Given the description of an element on the screen output the (x, y) to click on. 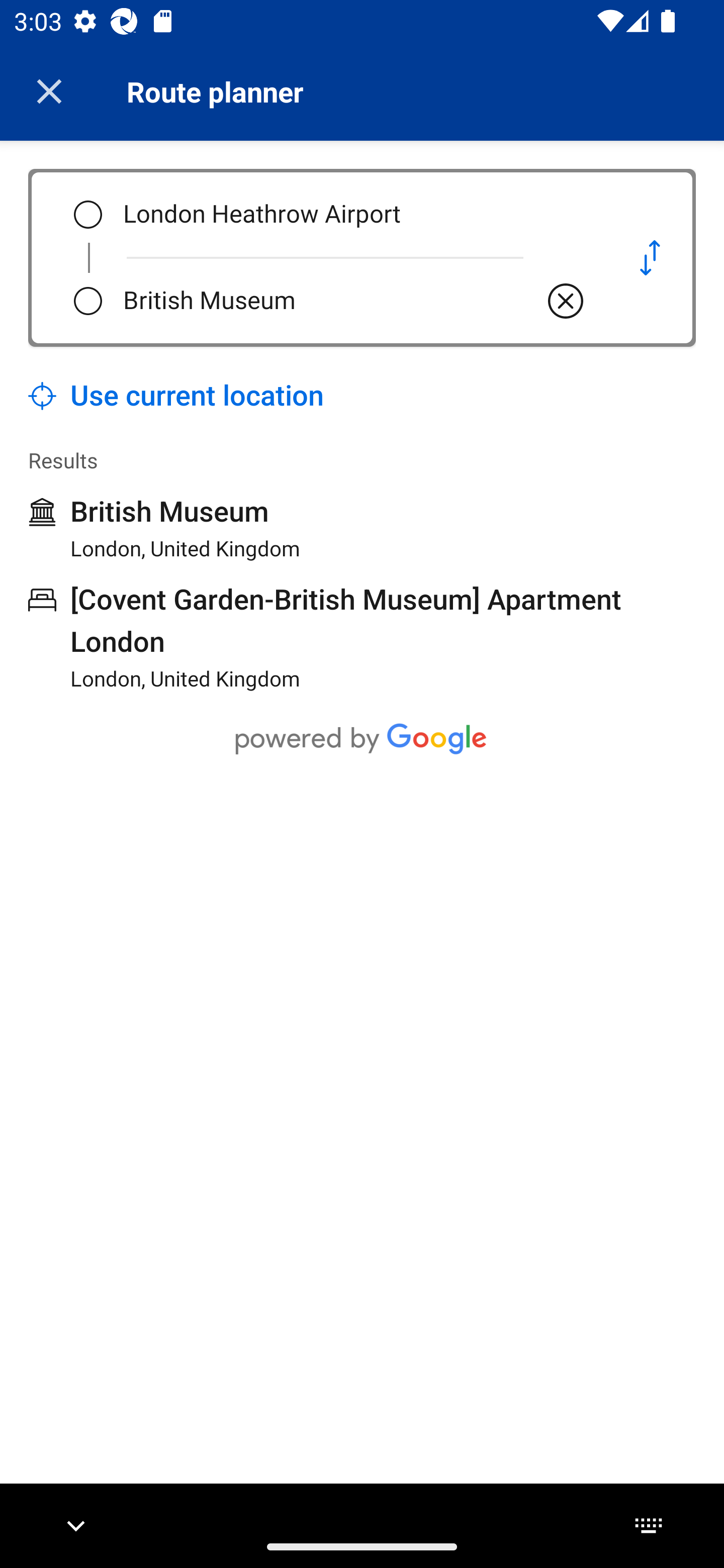
Close (49, 91)
London Heathrow Airport (355, 214)
Swap pick-up location and destination (650, 257)
British Museum Clear (355, 300)
Clear (565, 300)
Use current location (176, 395)
British Museum London, United Kingdom (164, 528)
